Given the description of an element on the screen output the (x, y) to click on. 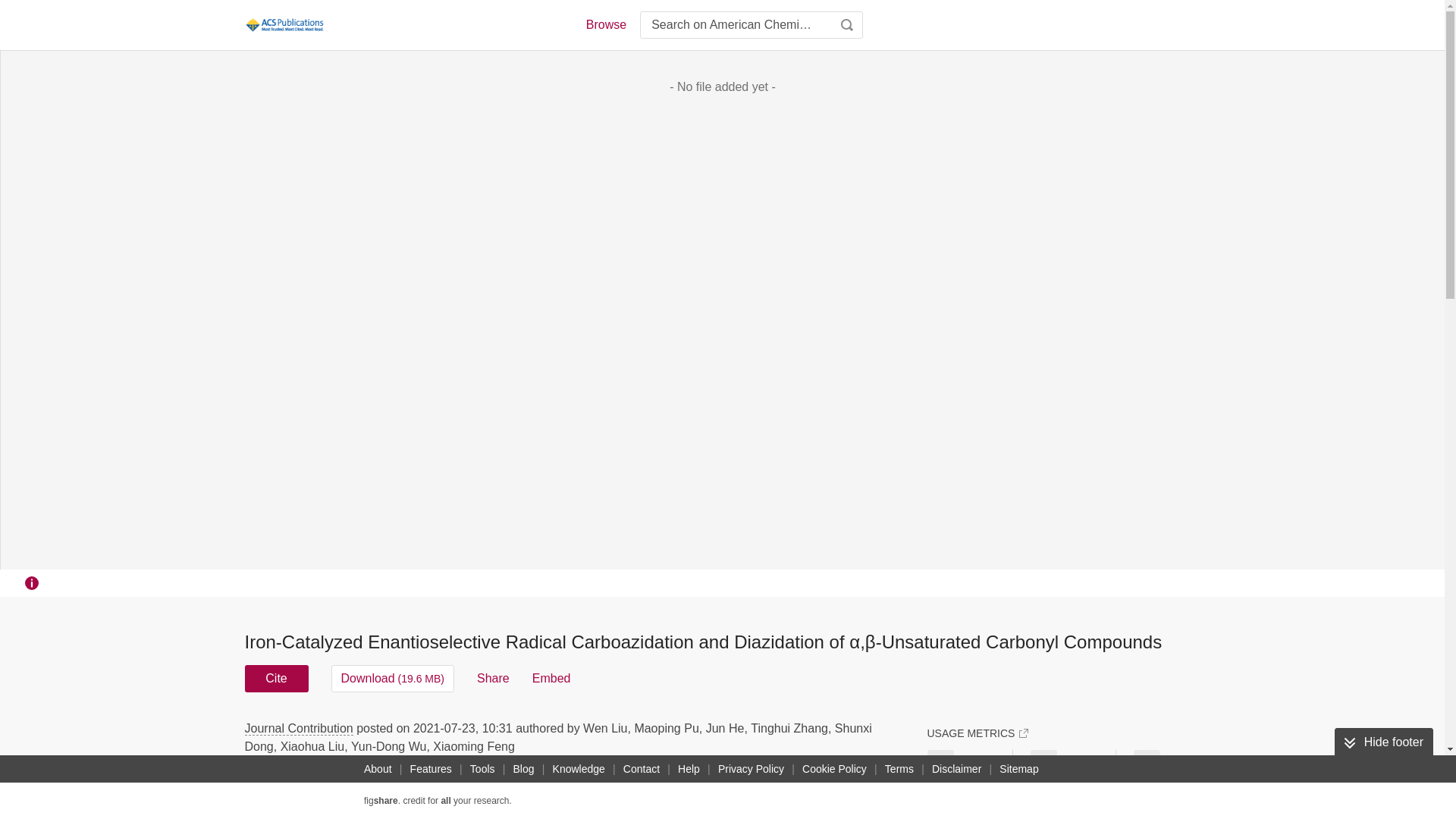
Share (493, 678)
Cite (275, 678)
USAGE METRICS (976, 732)
Browse (605, 24)
Embed (551, 678)
